Given the description of an element on the screen output the (x, y) to click on. 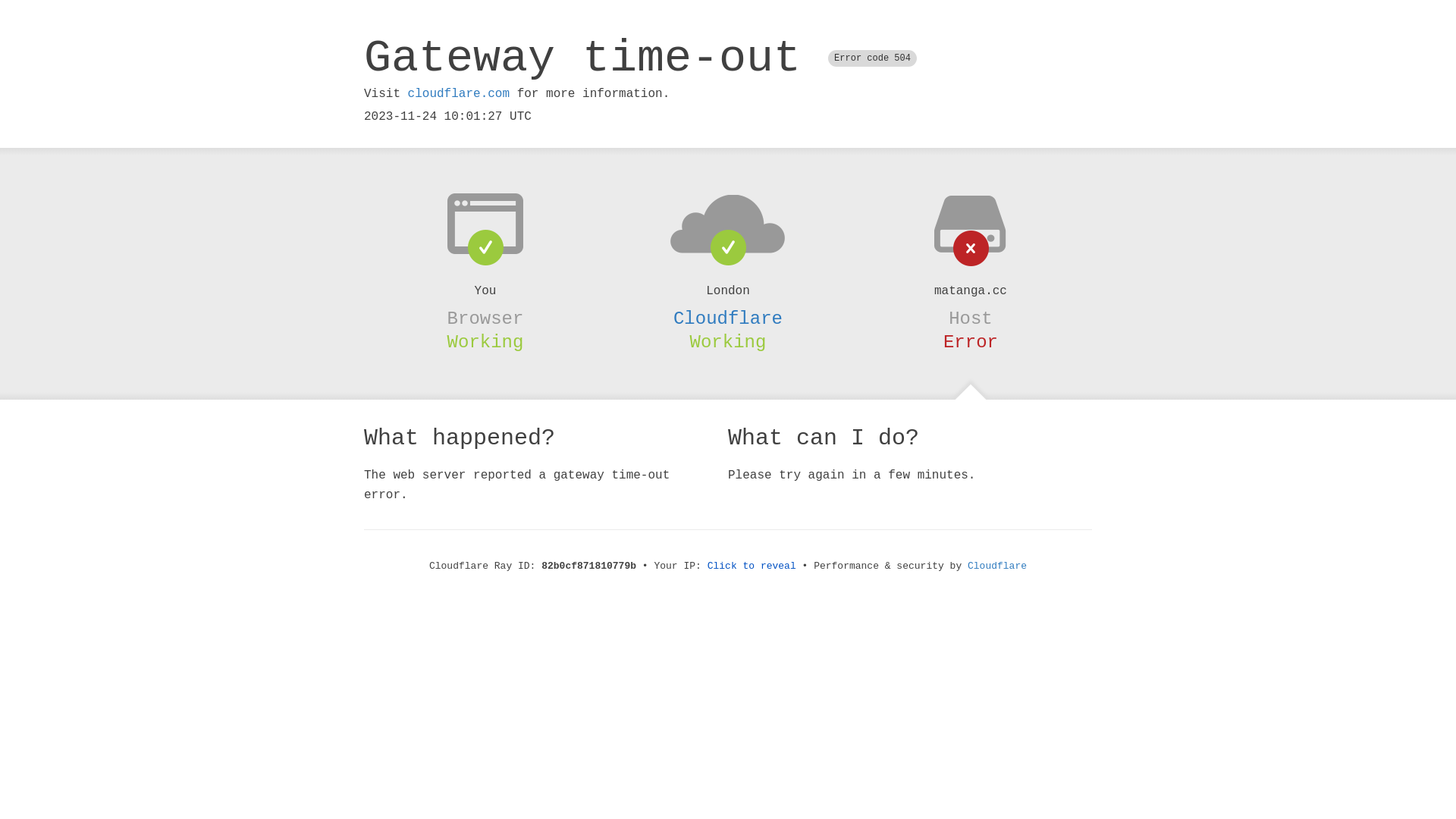
Cloudflare Element type: text (996, 565)
Click to reveal Element type: text (751, 565)
Cloudflare Element type: text (727, 318)
cloudflare.com Element type: text (458, 93)
